Given the description of an element on the screen output the (x, y) to click on. 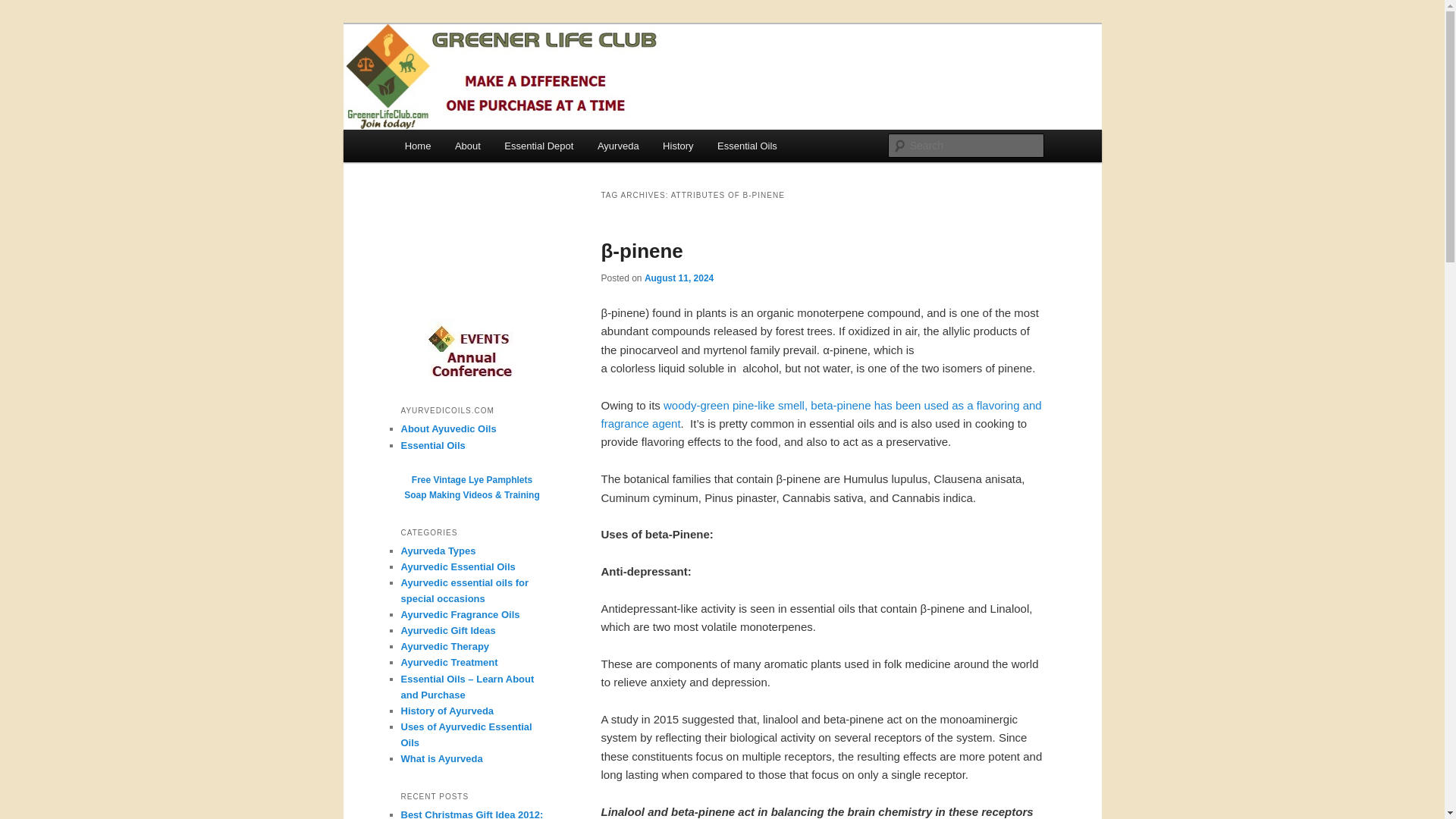
Ayurvedic Gift Ideas (447, 630)
Free Vintage Lye Pamphlets (472, 480)
12:12 pm (679, 277)
Essential Oils (746, 145)
Ayurveda (617, 145)
About Ayuvedic Oils (448, 428)
Essential Oils (432, 445)
Ayurveda Types (438, 550)
August 11, 2024 (679, 277)
